Given the description of an element on the screen output the (x, y) to click on. 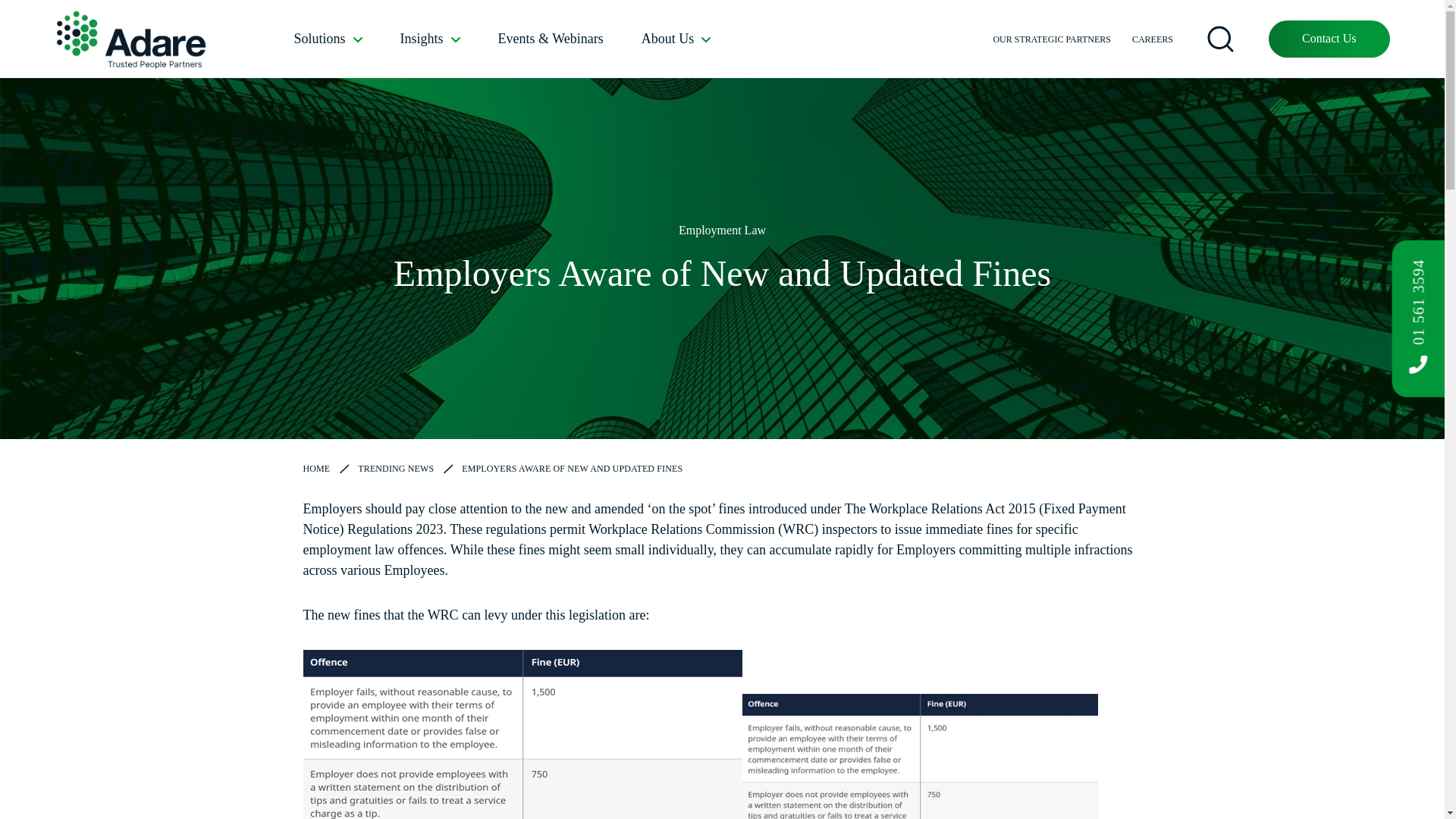
About Us (676, 39)
Solutions (328, 39)
Insights (430, 39)
Contact Us (1329, 38)
